Given the description of an element on the screen output the (x, y) to click on. 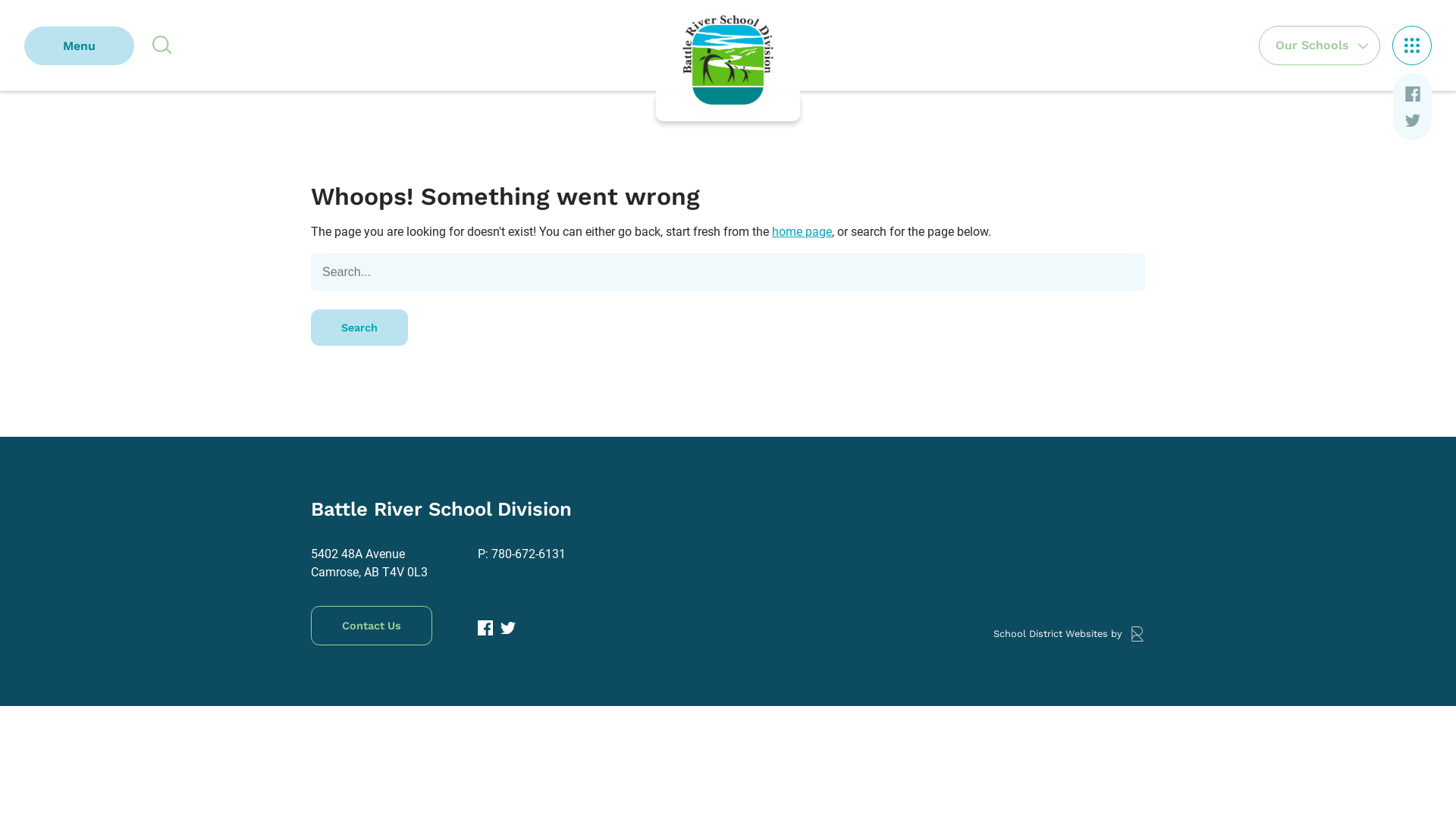
home page Element type: text (801, 231)
Battle River School Division Element type: hover (727, 60)
Quick Links Element type: text (1411, 45)
Twitter Element type: hover (507, 627)
Twitter Element type: text (1412, 121)
Facebook Element type: text (1412, 94)
Facebook Element type: hover (484, 628)
Contact Us Element type: text (371, 625)
Search Element type: text (161, 44)
Search Element type: text (358, 327)
Submit Element type: text (49, 18)
School District Websites by Element type: text (1069, 633)
Menu Element type: text (79, 44)
